Given the description of an element on the screen output the (x, y) to click on. 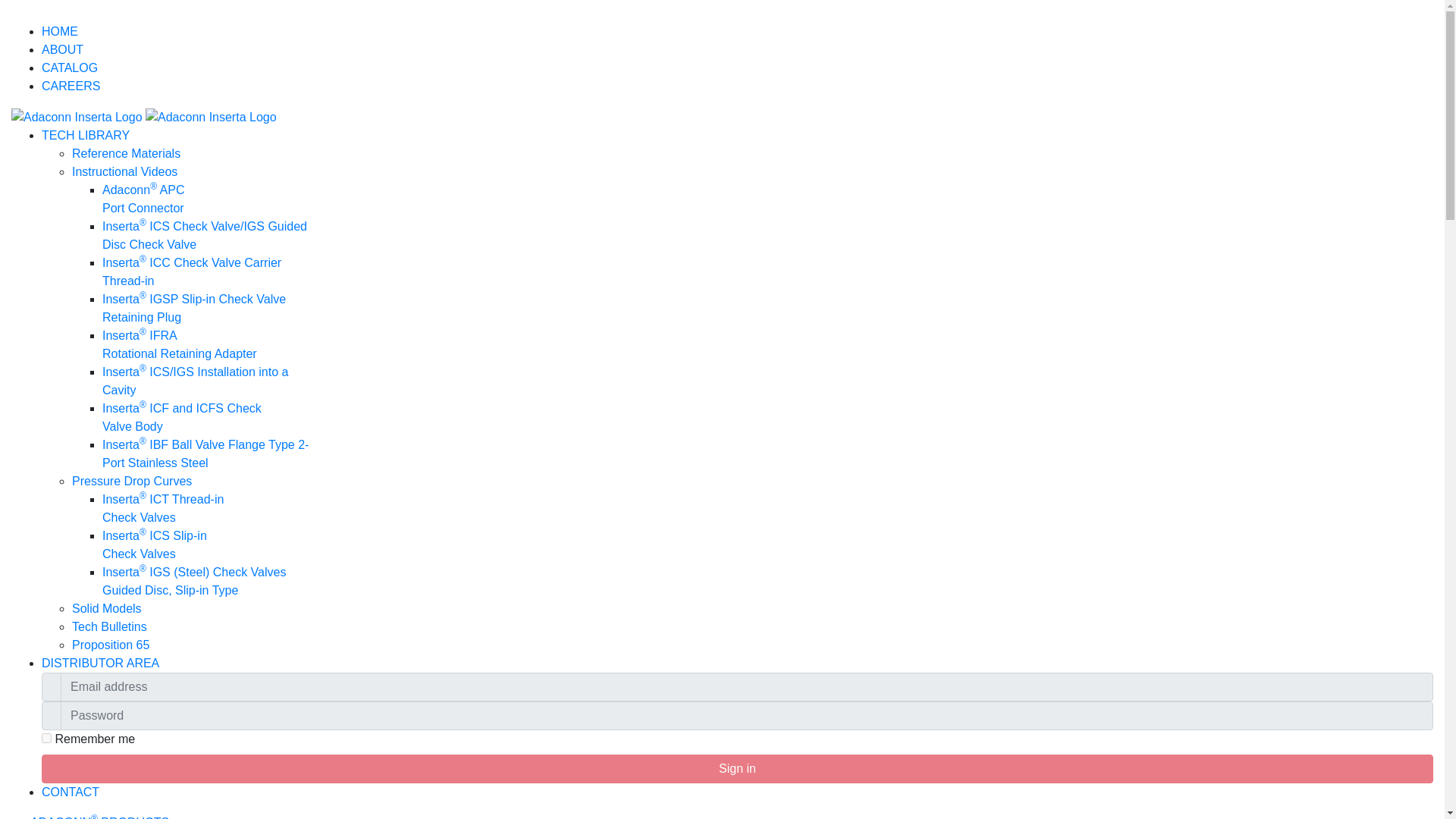
Proposition 65 (110, 644)
Solid Models (106, 608)
Sign in (737, 768)
remember-me (46, 737)
HOME (60, 31)
Tech Bulletins (109, 626)
Instructional Videos (124, 171)
CAREERS (71, 85)
TECH LIBRARY (85, 134)
CATALOG (69, 67)
